Given the description of an element on the screen output the (x, y) to click on. 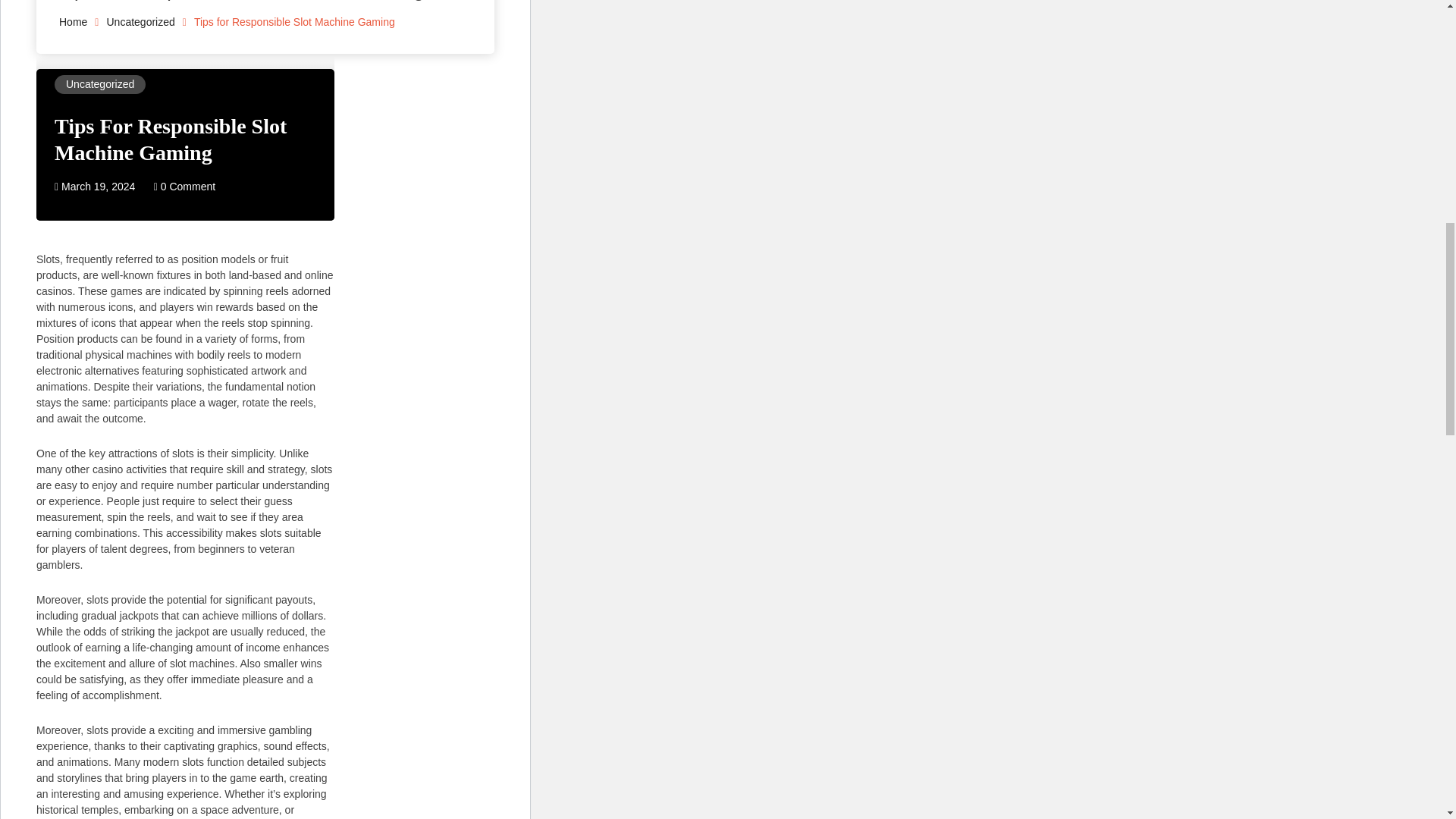
0 Comment (184, 186)
Tips For Responsible Slot Machine Gaming (170, 138)
Home (73, 21)
Uncategorized (99, 82)
Uncategorized (140, 21)
